Given the description of an element on the screen output the (x, y) to click on. 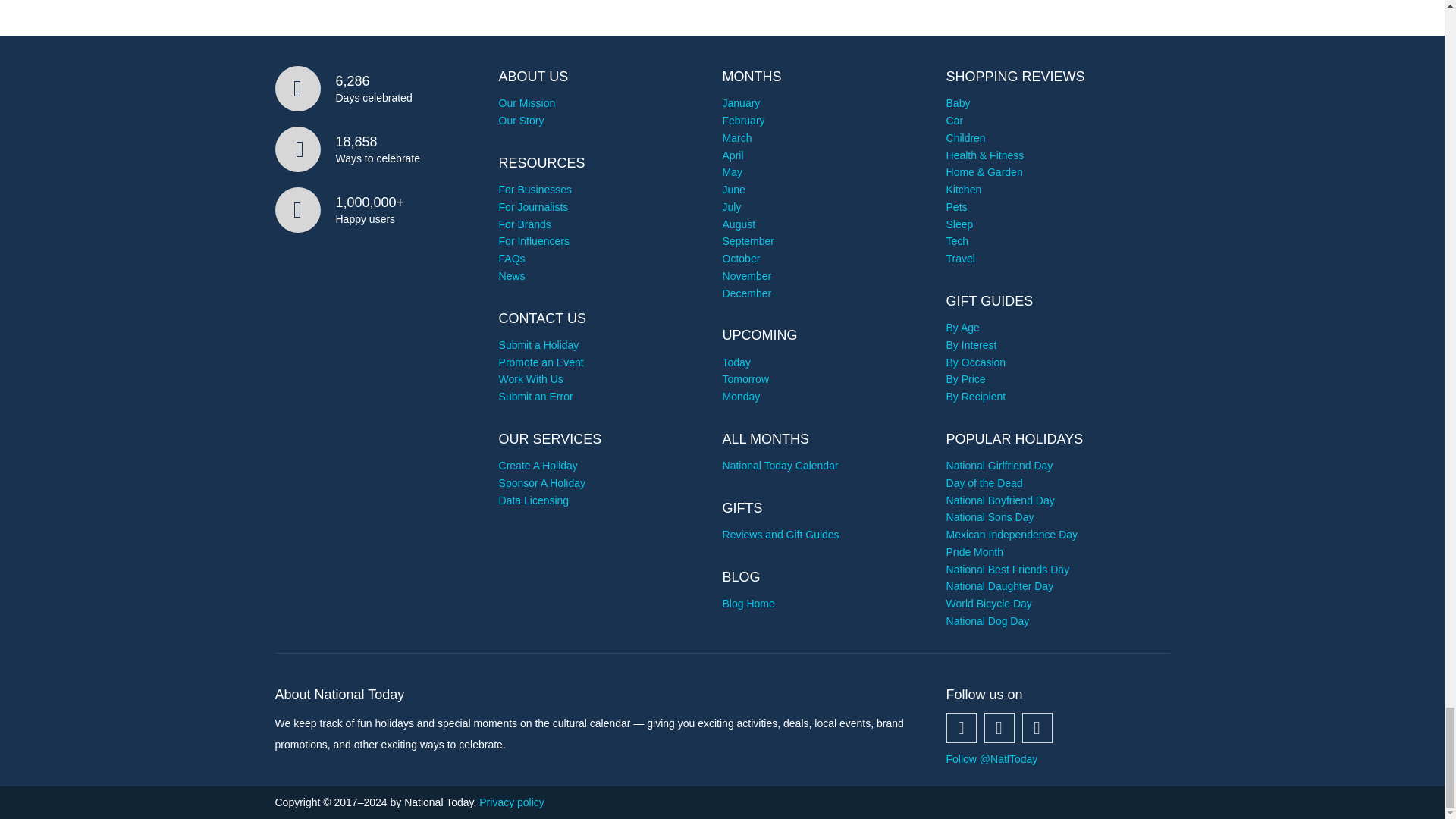
Follow us on Instagram (1037, 727)
Follow us on Twitter (999, 727)
Follow us on Facebook (961, 727)
